Given the description of an element on the screen output the (x, y) to click on. 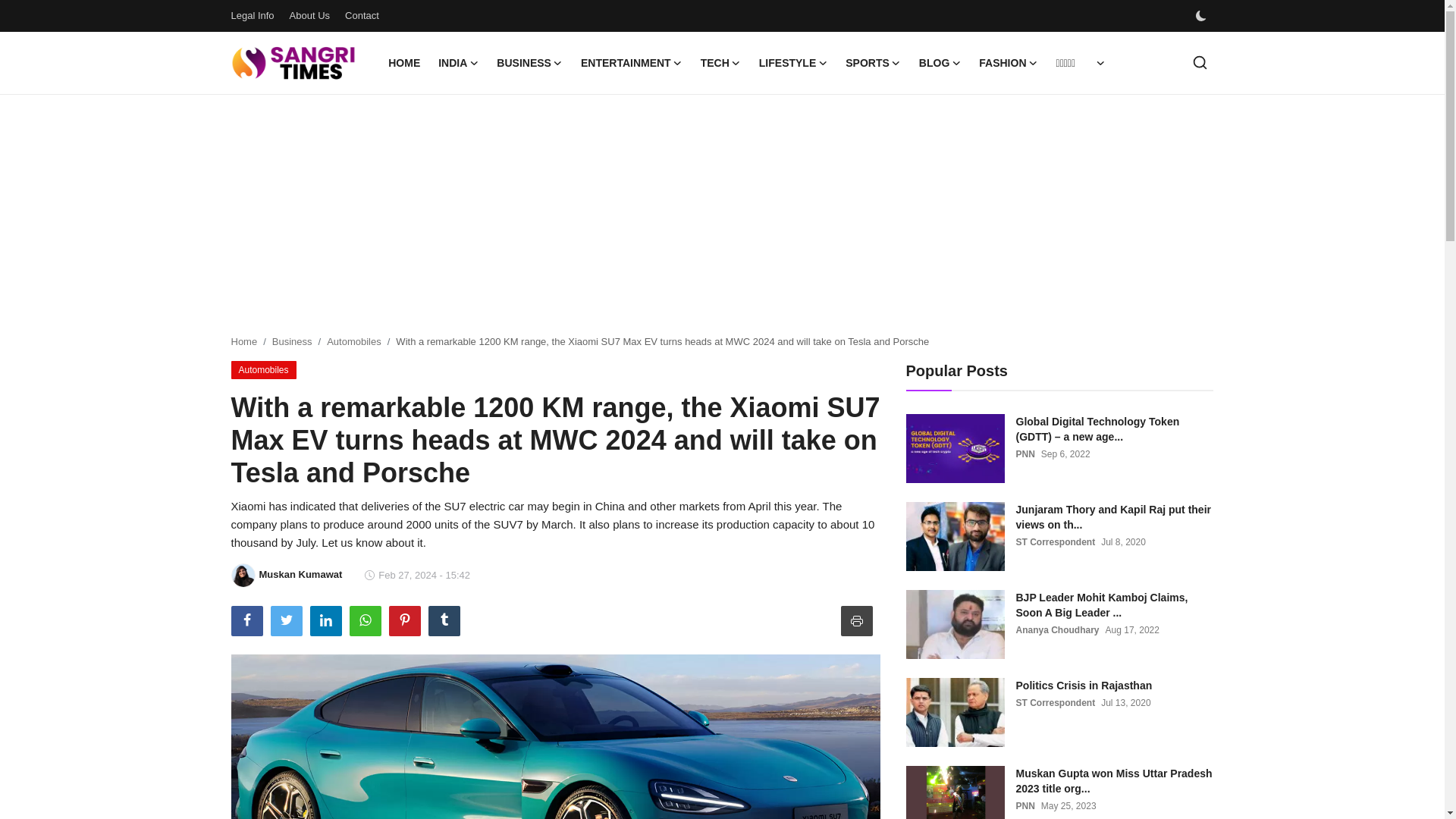
LIFESTYLE (792, 62)
dark (1200, 15)
INDIA (458, 62)
BLOG (939, 62)
BUSINESS (529, 62)
Contact (361, 15)
Advertisement (721, 215)
SPORTS (872, 62)
TECH (720, 62)
ENTERTAINMENT (631, 62)
About Us (309, 15)
Legal Info (251, 15)
FASHION (1007, 62)
